Given the description of an element on the screen output the (x, y) to click on. 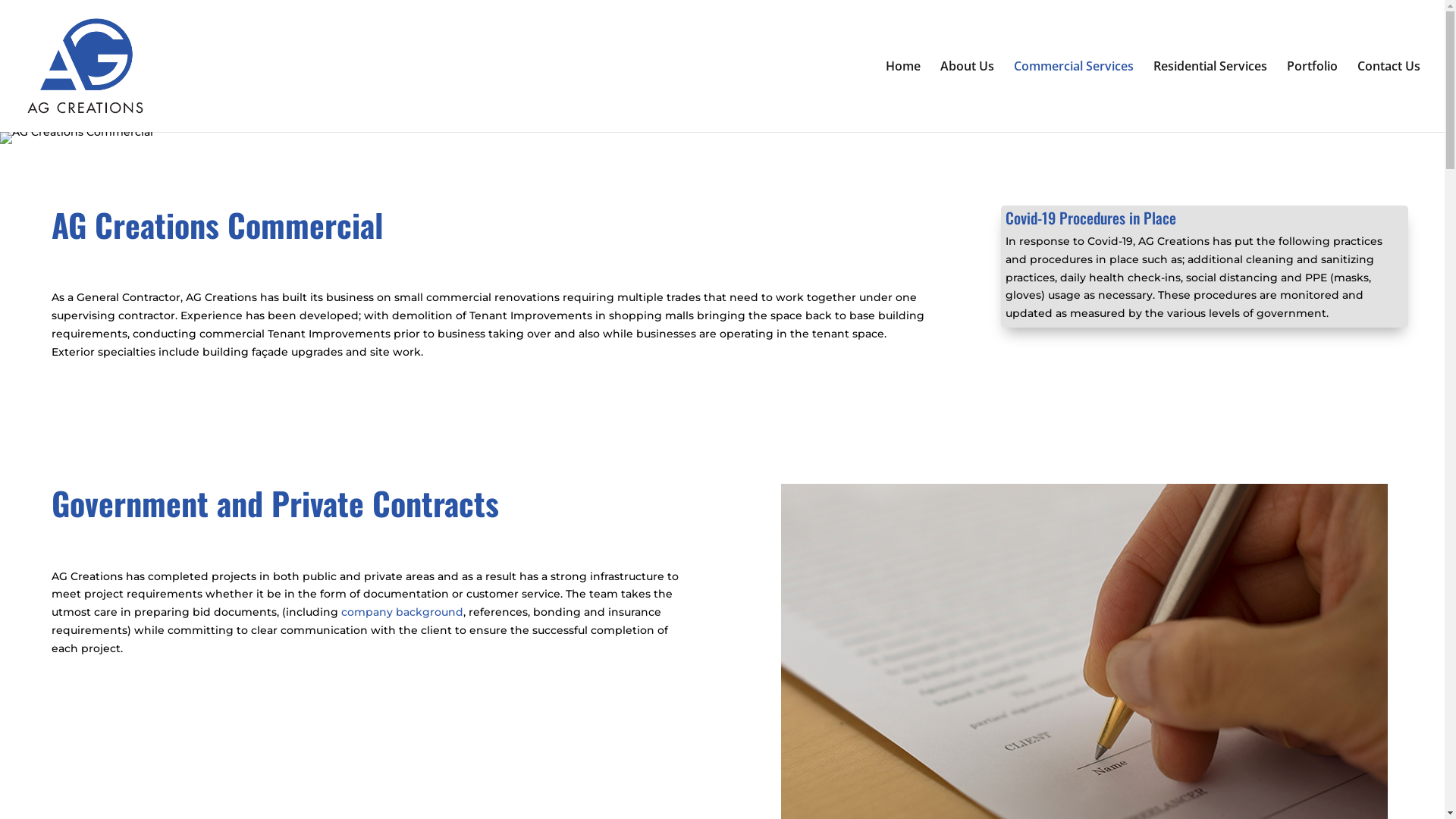
company background Element type: text (402, 611)
Residential Services Element type: text (1210, 95)
Contact Us Element type: text (1388, 95)
AG Creations Commercial Element type: hover (76, 137)
Home Element type: text (902, 95)
Portfolio Element type: text (1311, 95)
Commercial Services Element type: text (1073, 95)
About Us Element type: text (967, 95)
